Given the description of an element on the screen output the (x, y) to click on. 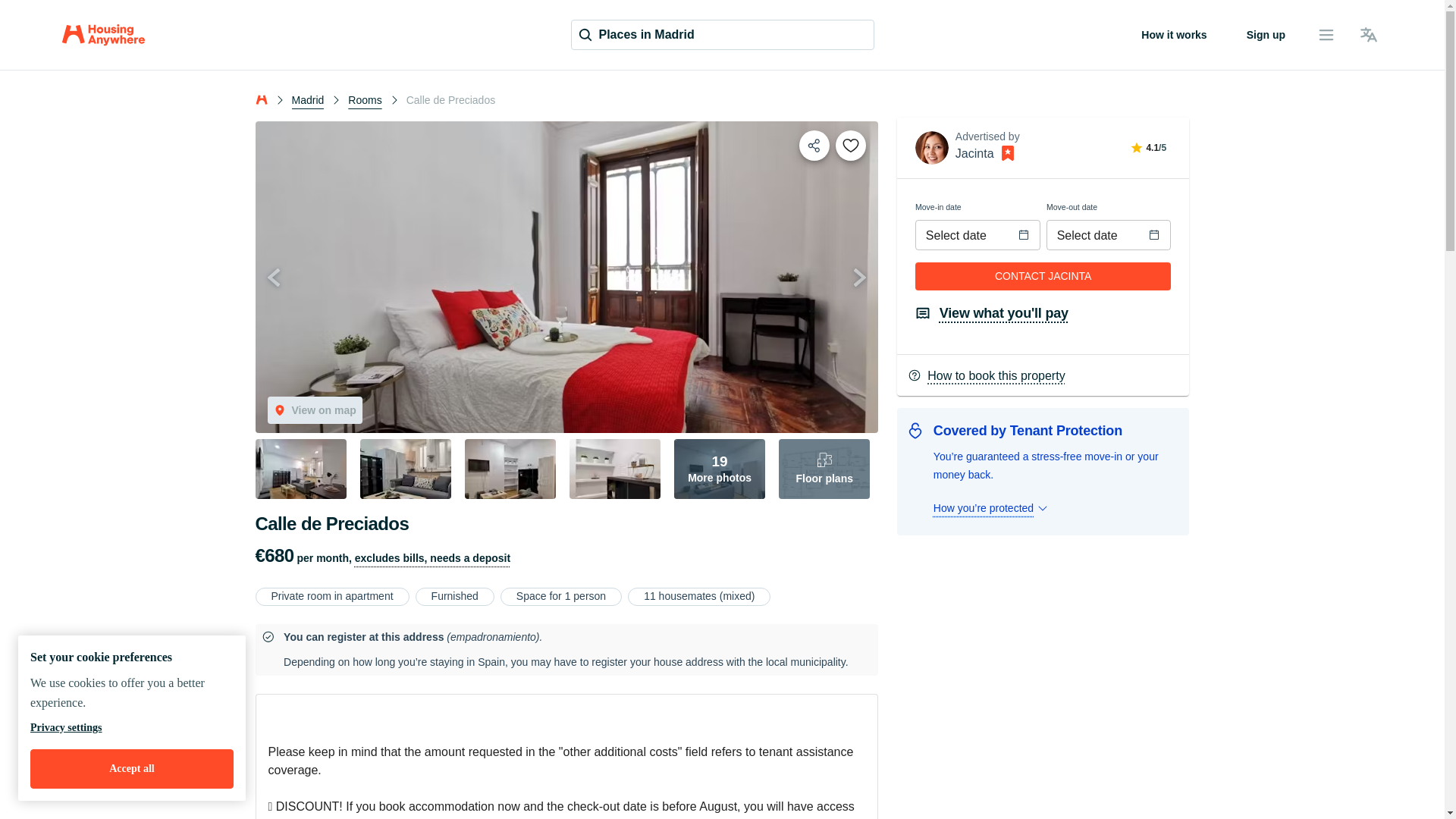
Rooms (364, 99)
Share (814, 145)
Profile preview (932, 147)
View what you'll pay (991, 312)
Places in Madrid (721, 34)
Sign up (1265, 34)
excludes bills, needs a deposit (433, 558)
Select date (1094, 235)
CONTACT JACINTA (1043, 276)
Floor plans (823, 468)
